Given the description of an element on the screen output the (x, y) to click on. 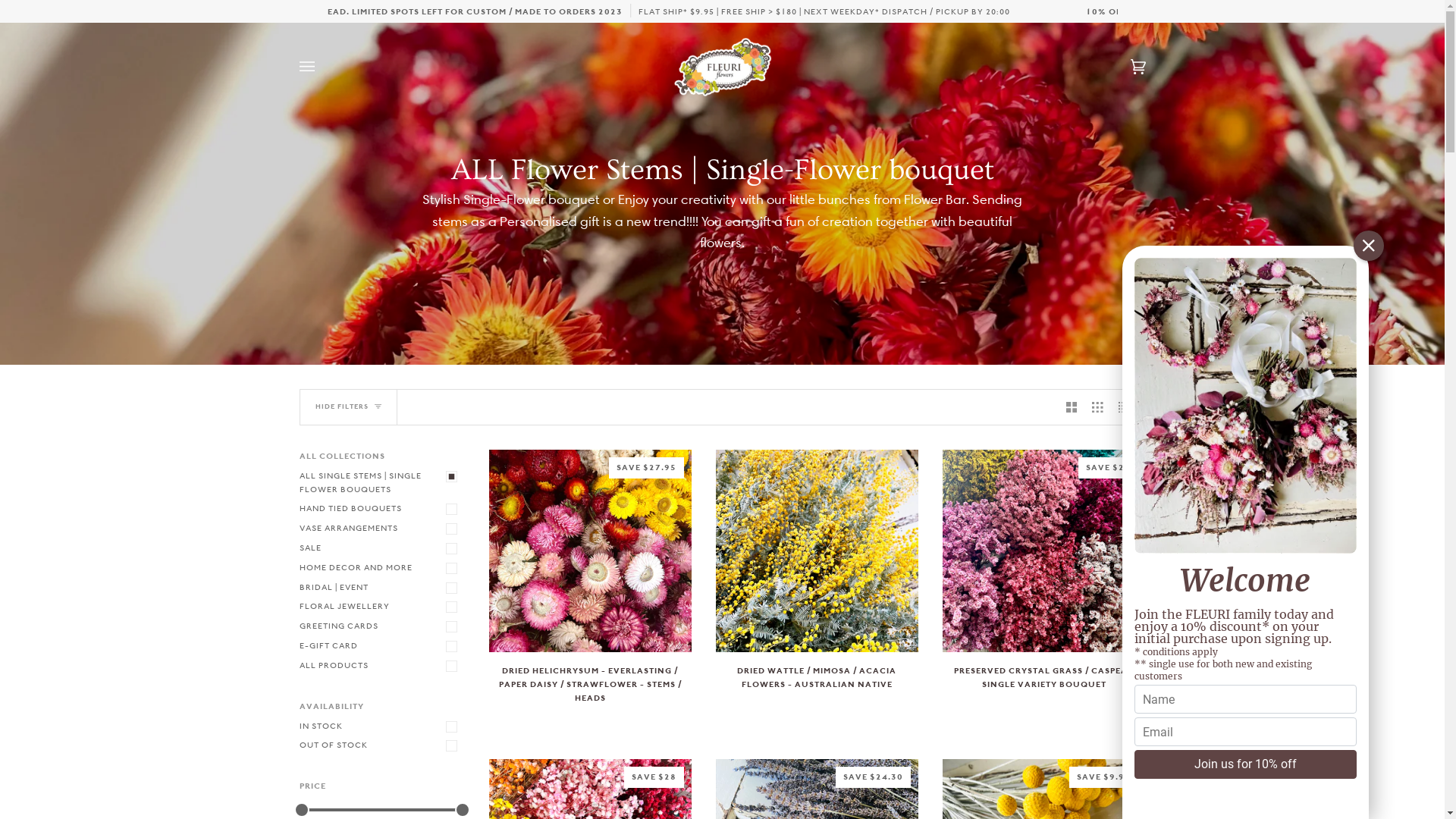
E-GIFT CARD Element type: text (381, 645)
DRIED WATTLE / MIMOSA / ACACIA FLOWERS - AUSTRALIAN NATIVE Element type: text (816, 688)
GREETING CARDS Element type: text (381, 626)
ALL PRODUCTS Element type: text (381, 665)
FLORAL JEWELLERY Element type: text (381, 606)
Cart
(0) Element type: text (1122, 66)
Join us for 10% off Element type: text (1245, 763)
ALL SINGLE STEMS | SINGLE FLOWER BOUQUETS Element type: text (381, 482)
HIDE FILTERS Element type: text (348, 406)
BRIDAL | EVENT Element type: text (381, 587)
SAVE $26 Element type: text (1043, 550)
SAVE $27.95 Element type: text (589, 550)
HAND TIED BOUQUETS Element type: text (381, 508)
PRESERVED CRYSTAL GRASS / CASPEA - SINGLE VARIETY BOUQUET Element type: text (1043, 688)
HOME DECOR AND MORE Element type: text (381, 567)
SALE Element type: text (381, 548)
VASE ARRANGEMENTS Element type: text (381, 528)
